Given the description of an element on the screen output the (x, y) to click on. 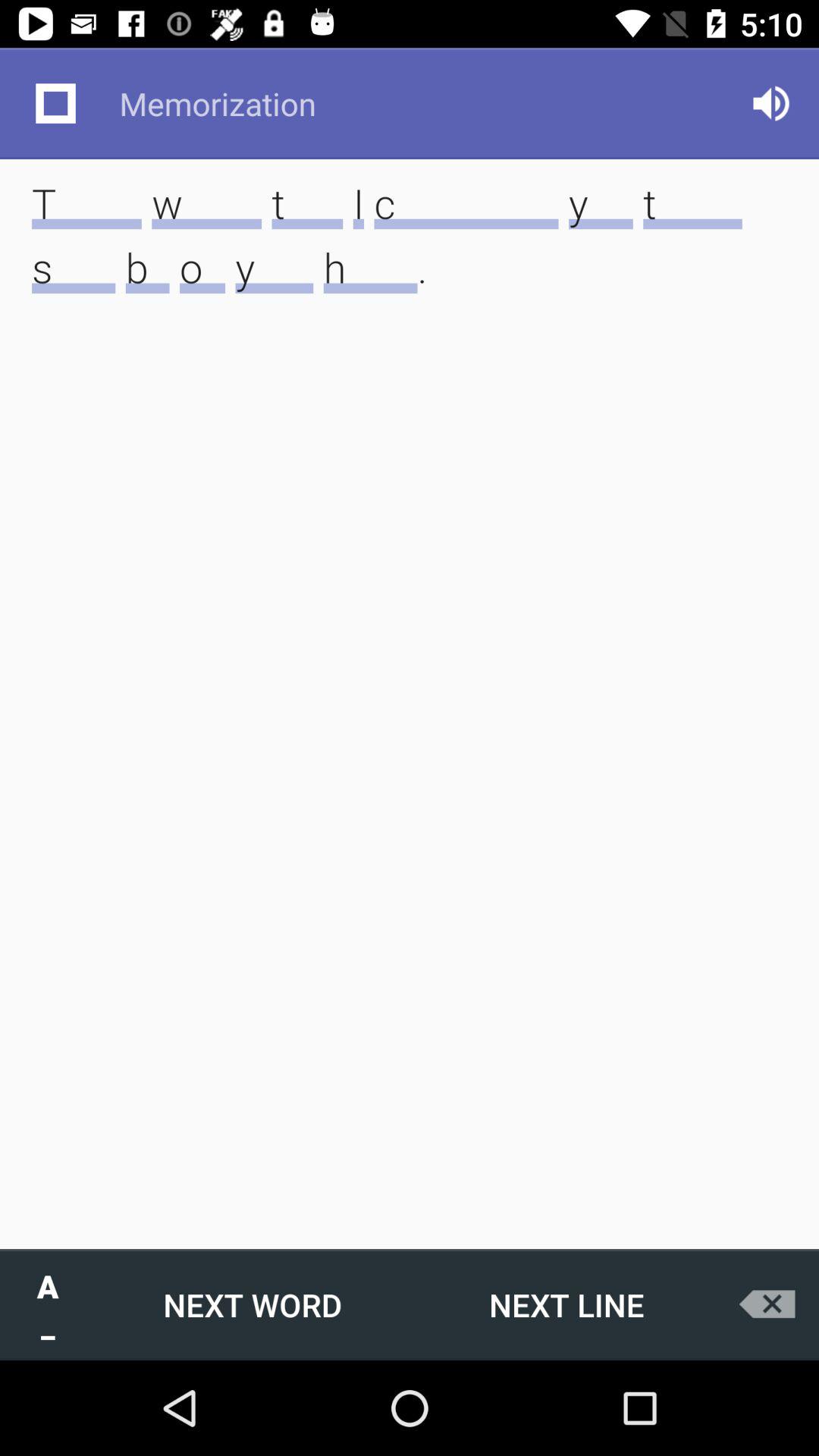
choose the icon next to the a
_ item (252, 1304)
